Given the description of an element on the screen output the (x, y) to click on. 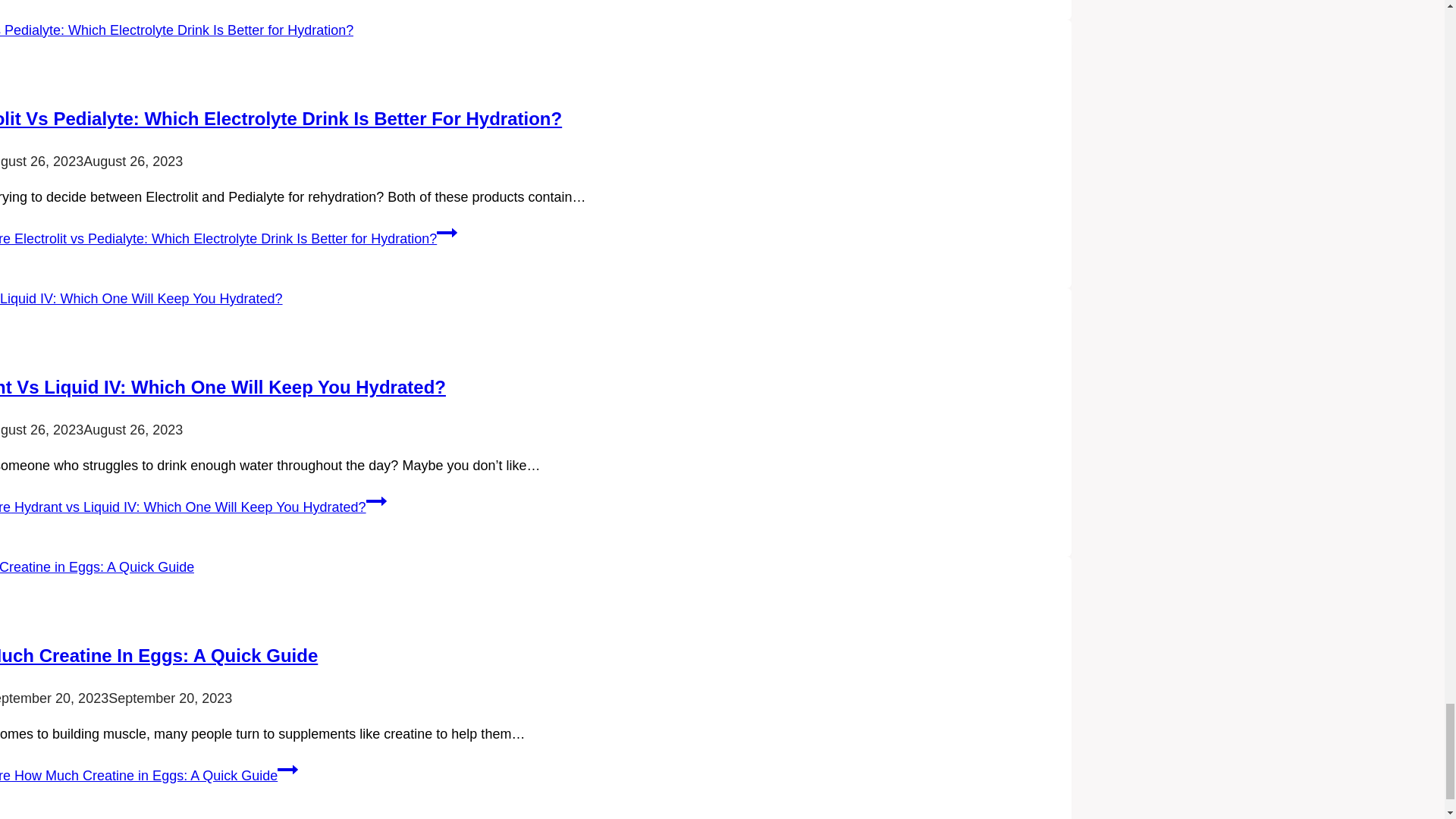
Hydrant Vs Liquid IV: Which One Will Keep You Hydrated? (222, 386)
